Given the description of an element on the screen output the (x, y) to click on. 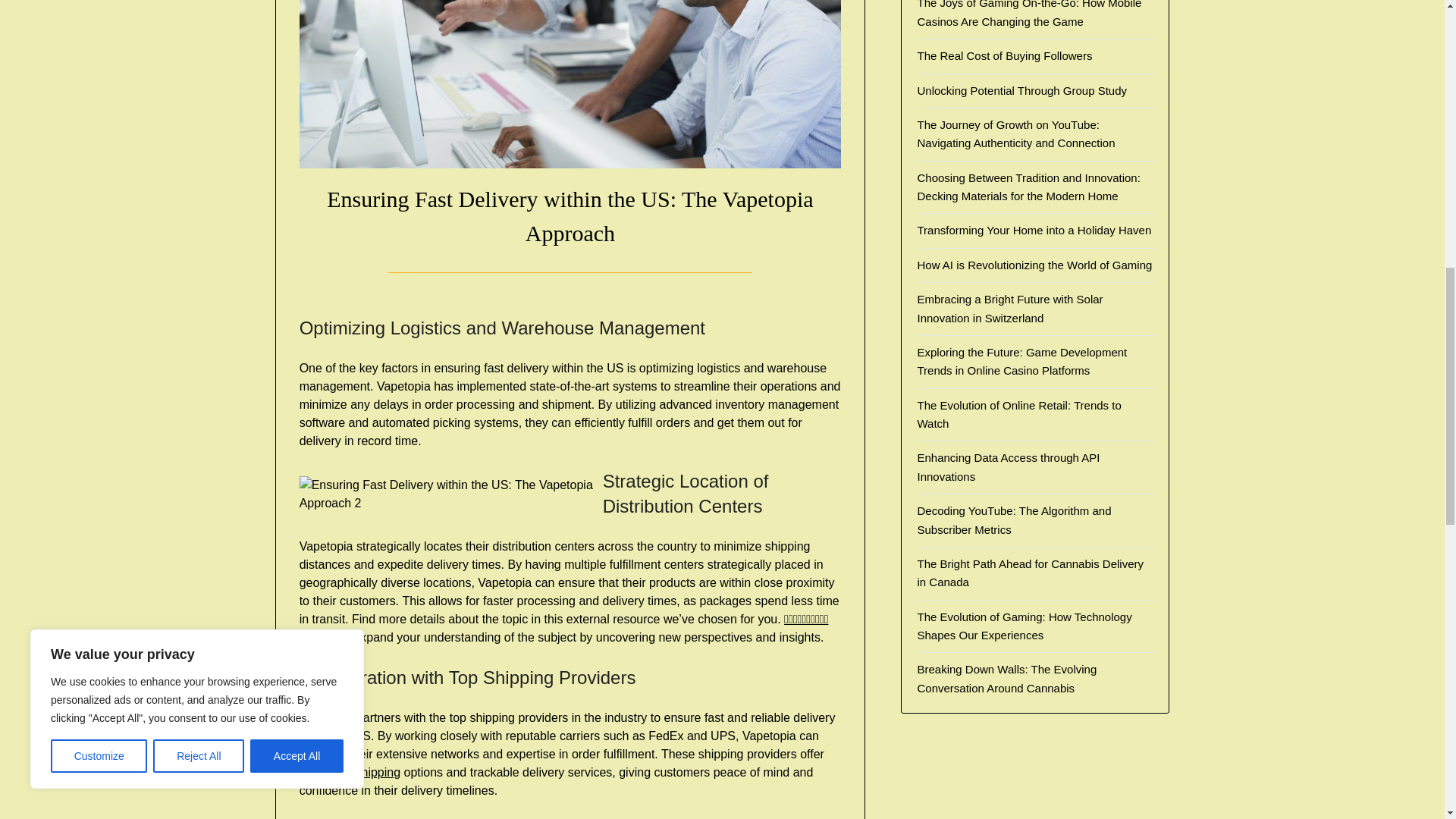
How AI is Revolutionizing the World of Gaming (1034, 264)
Unlocking Potential Through Group Study (1021, 90)
The Real Cost of Buying Followers (1004, 55)
expedited shipping (349, 771)
Transforming Your Home into a Holiday Haven (1034, 229)
